Given the description of an element on the screen output the (x, y) to click on. 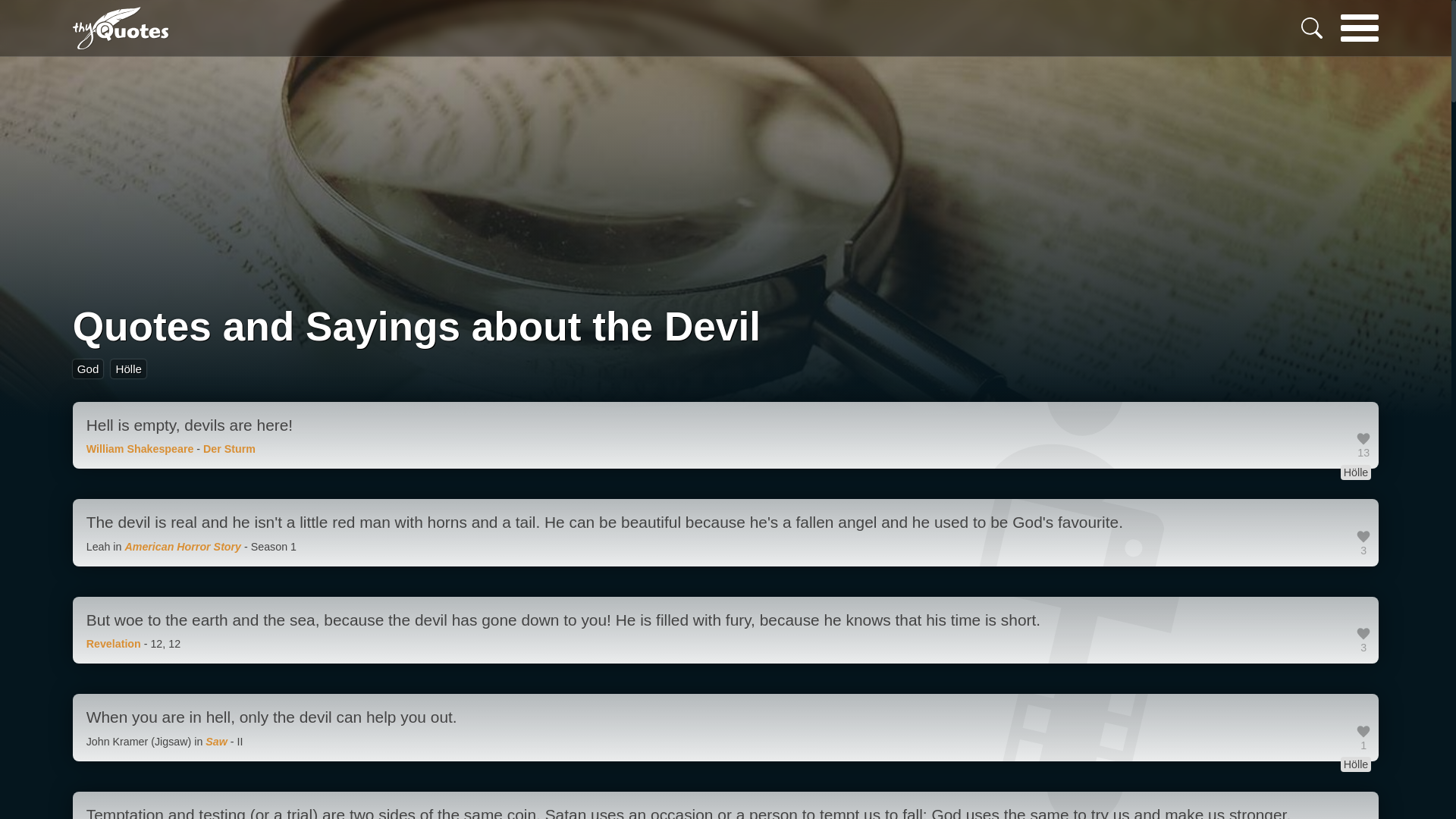
Revelation (113, 644)
Der Sturm (229, 449)
William Shakespeare (139, 449)
God (87, 368)
Saw (216, 741)
American Horror Story (182, 546)
